Given the description of an element on the screen output the (x, y) to click on. 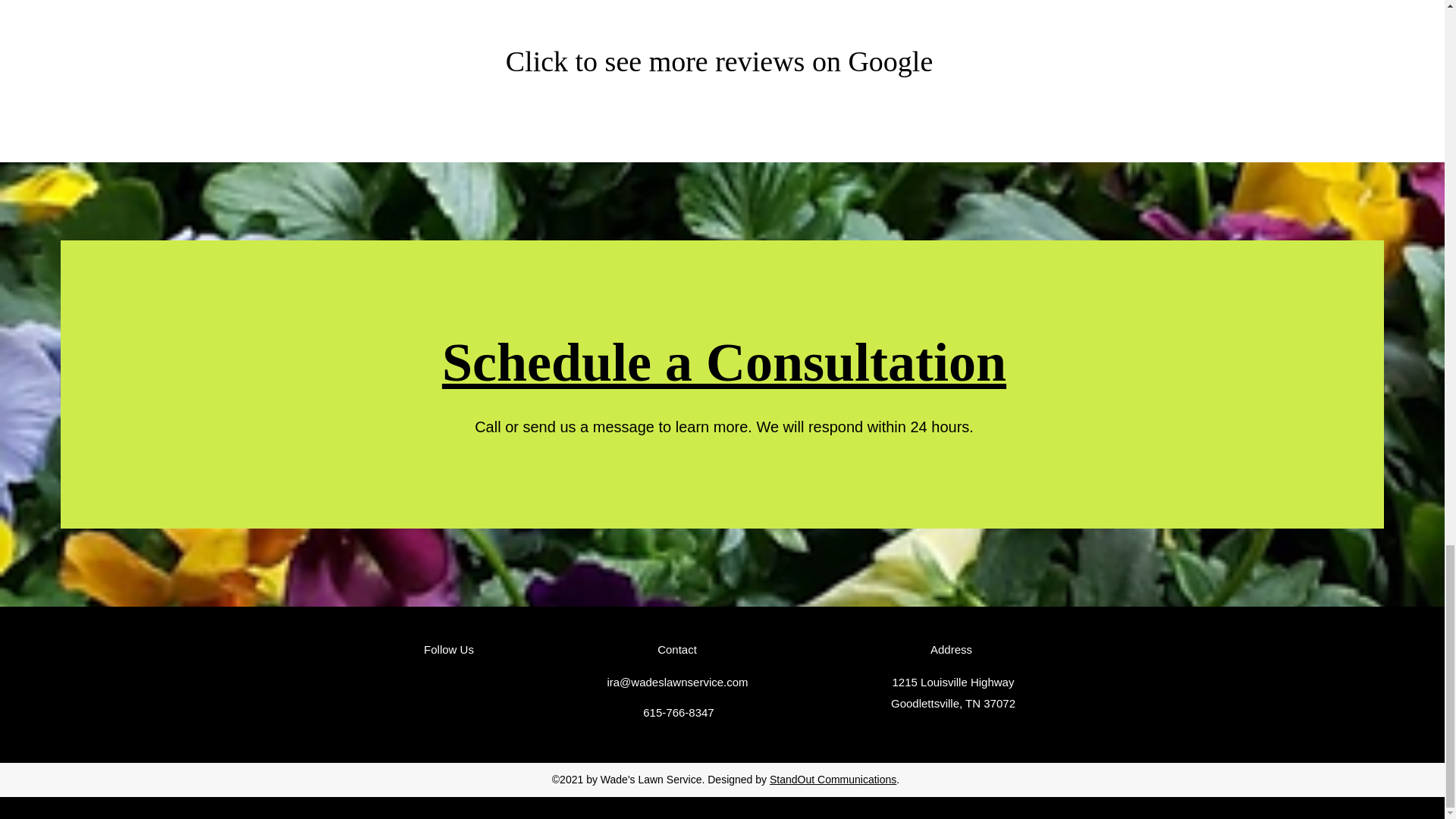
Schedule a Consultation (724, 362)
StandOut Communications (833, 779)
Click to see more reviews on Google (719, 60)
